Given the description of an element on the screen output the (x, y) to click on. 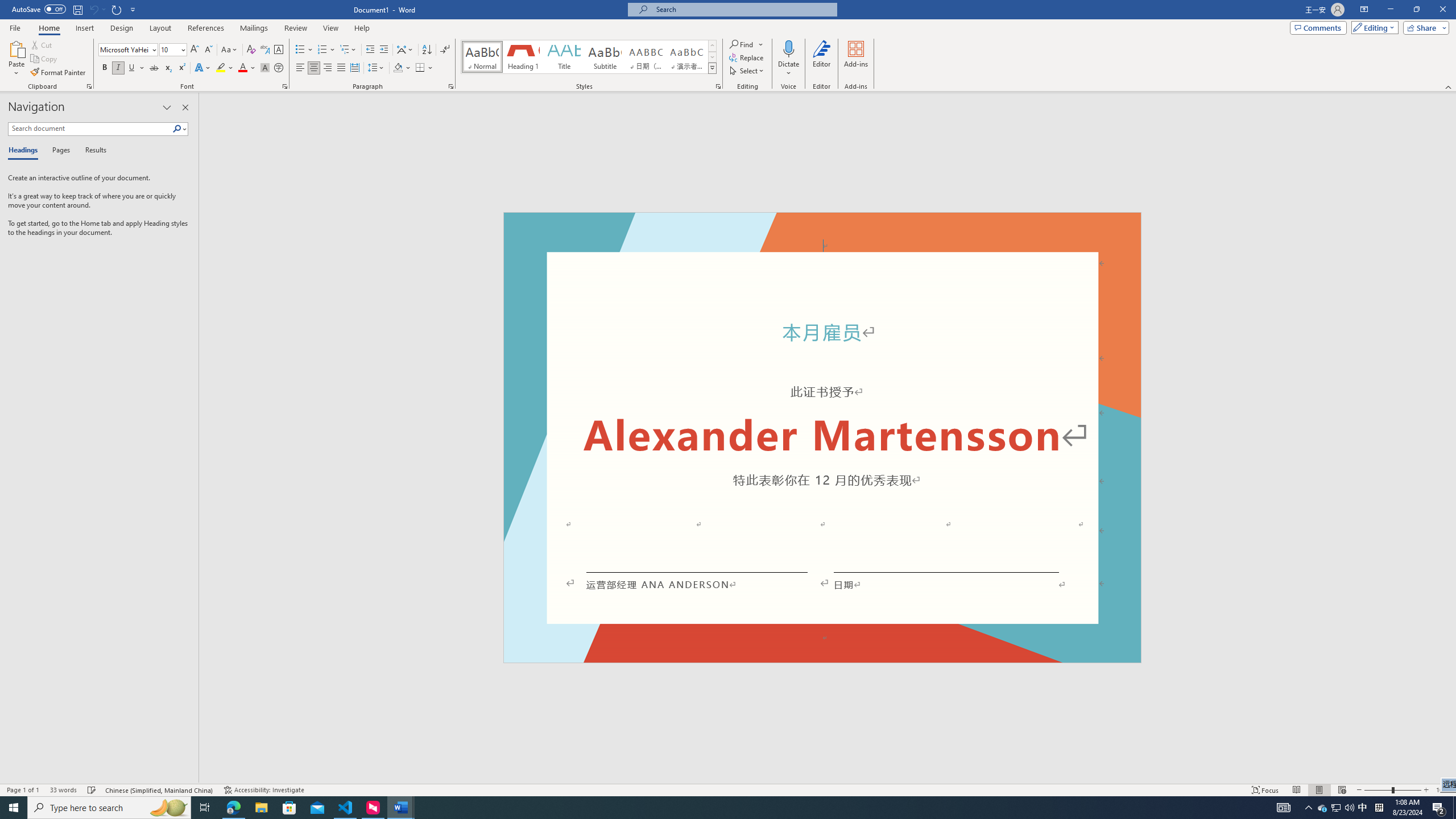
Can't Undo (92, 9)
Can't Undo (96, 9)
